Given the description of an element on the screen output the (x, y) to click on. 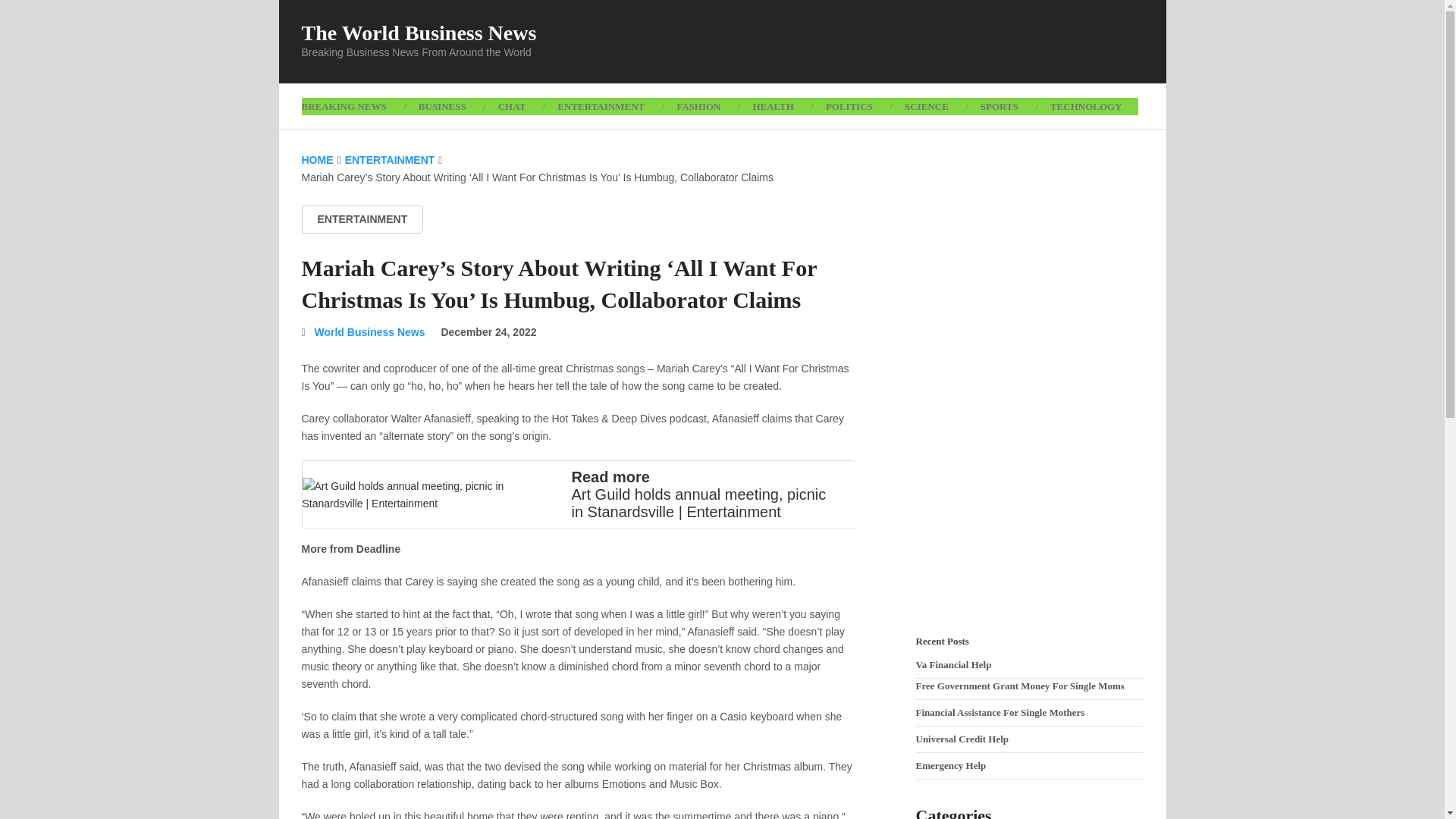
Posts by World Business News (369, 331)
SPORTS (998, 105)
The World Business News (419, 33)
POLITICS (848, 105)
World Business News (369, 331)
SCIENCE (925, 105)
Financial Assistance For Single Mothers (999, 712)
BREAKING NEWS (352, 105)
Emergency Help (951, 765)
Free Government Grant Money For Single Moms (1019, 685)
CHAT (511, 105)
View all posts in Entertainment (362, 219)
ENTERTAINMENT (362, 219)
ENTERTAINMENT (601, 105)
HEALTH (772, 105)
